Given the description of an element on the screen output the (x, y) to click on. 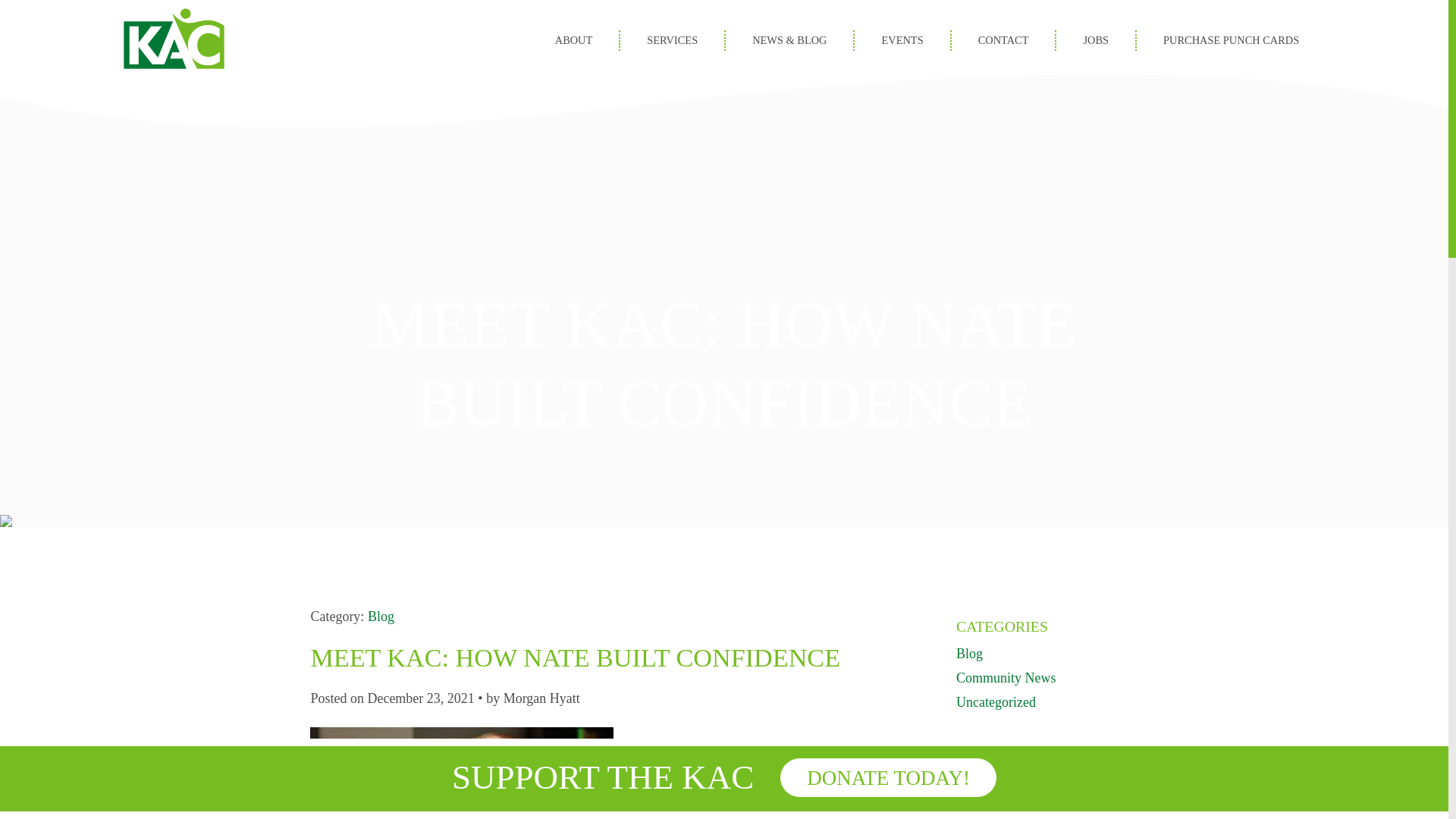
ABOUT (574, 40)
Community News (1006, 677)
Blog (969, 653)
EVENTS (901, 40)
CONTACT (1003, 40)
SERVICES (671, 40)
JOBS (1096, 40)
Uncategorized (995, 702)
PURCHASE PUNCH CARDS (1230, 40)
RECENT EVENTS (1015, 770)
